Given the description of an element on the screen output the (x, y) to click on. 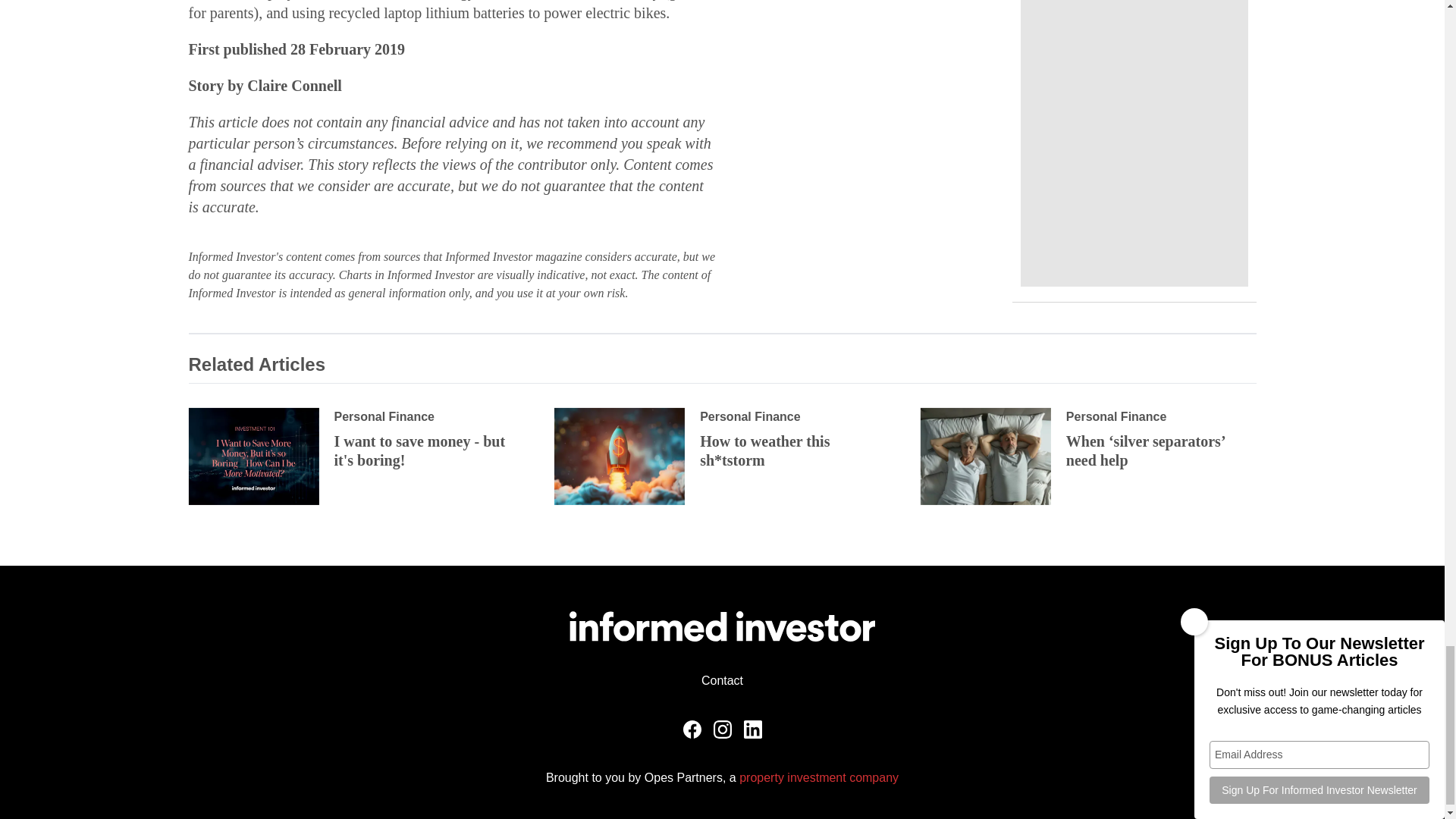
property investment company (818, 777)
Contact (721, 680)
